Given the description of an element on the screen output the (x, y) to click on. 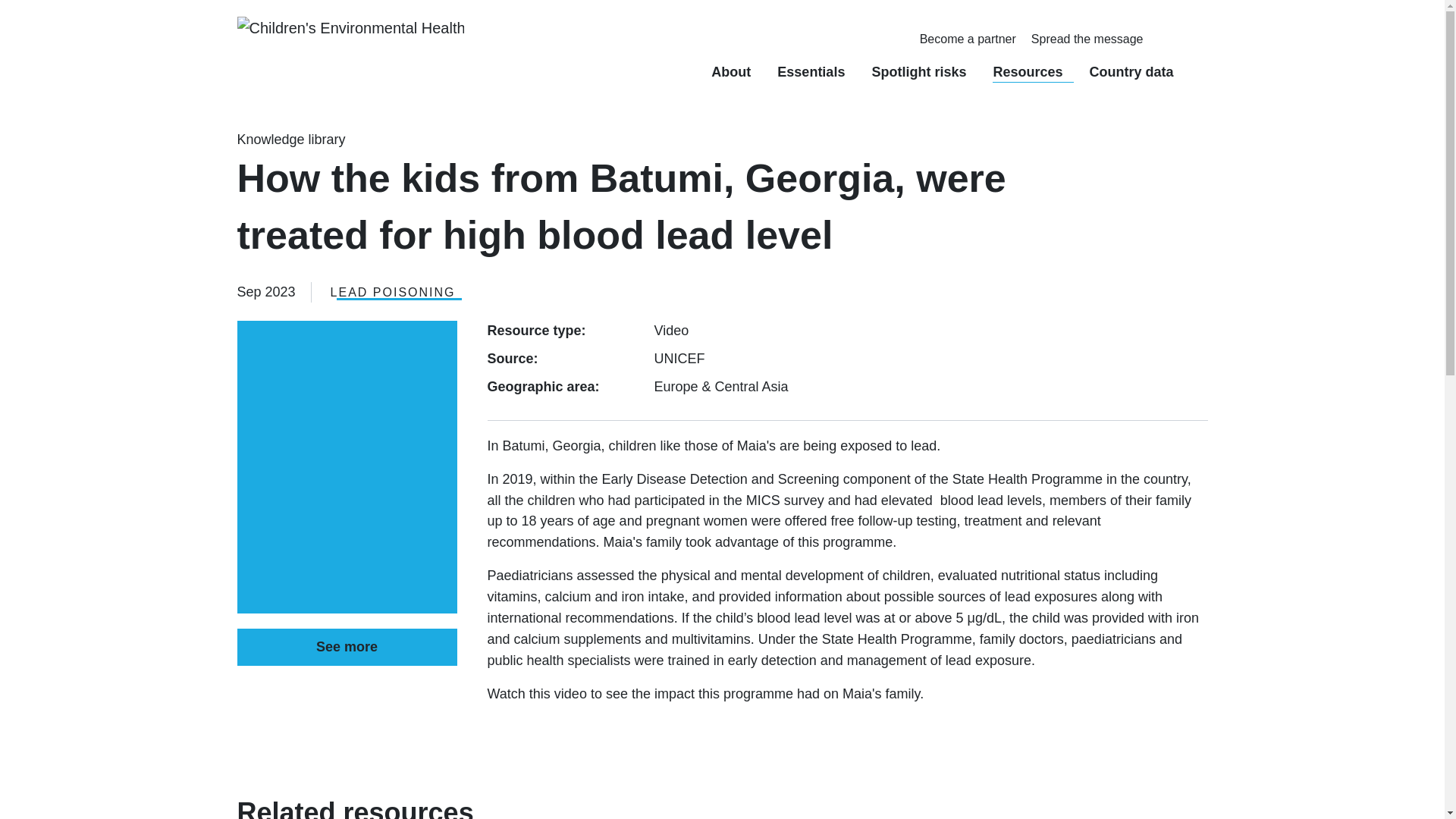
Spread the message (1086, 39)
About (736, 71)
Apply (1173, 34)
Spotlight risks (923, 71)
Essentials (816, 71)
Search (1176, 36)
Resources (1033, 71)
Become a partner (968, 39)
Country data (1137, 71)
See more (346, 646)
Knowledge library (290, 139)
LEAD POISONING (392, 291)
